Given the description of an element on the screen output the (x, y) to click on. 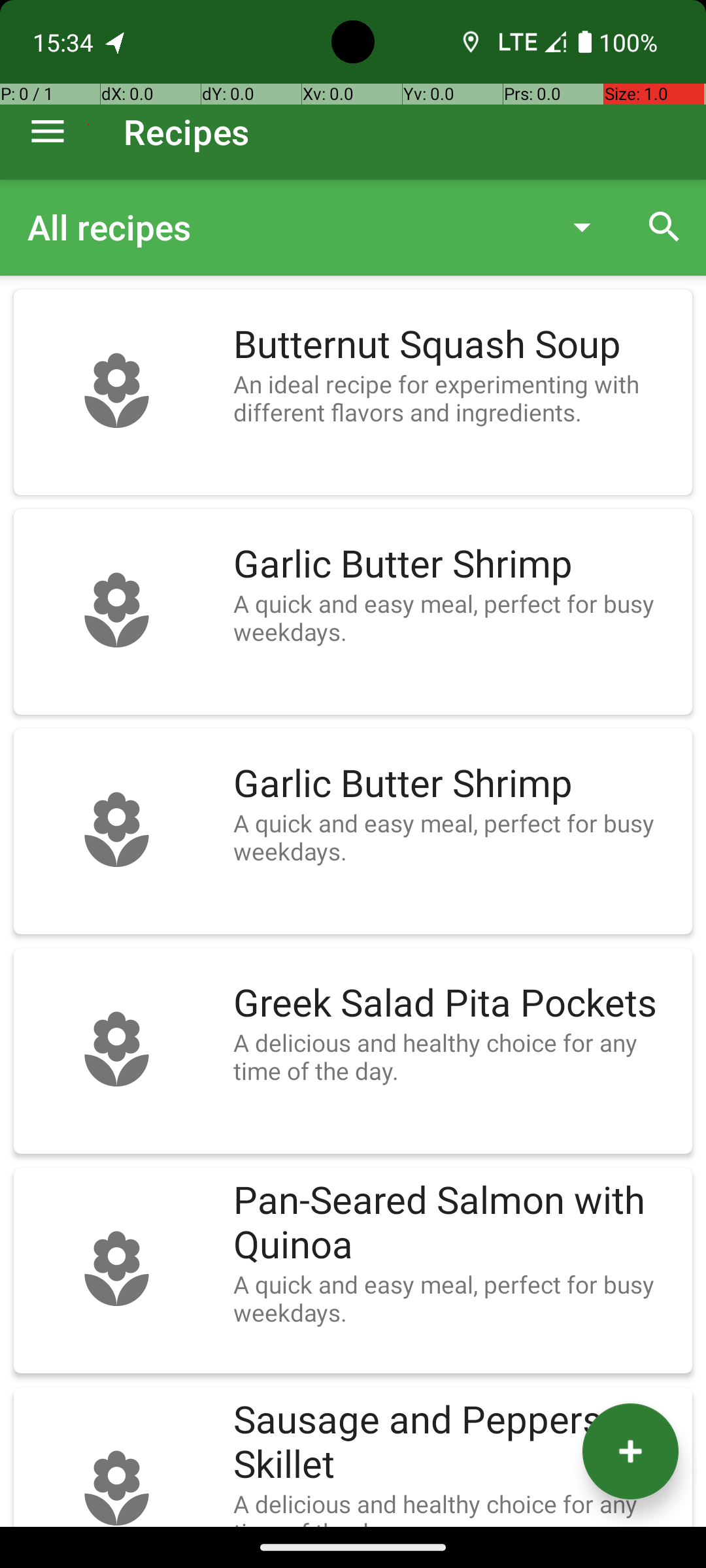
Pan-Seared Salmon with Quinoa Element type: android.widget.TextView (455, 1222)
Sausage and Peppers Skillet Element type: android.widget.TextView (455, 1442)
OpenTracks notification:  Element type: android.widget.ImageView (115, 41)
